Given the description of an element on the screen output the (x, y) to click on. 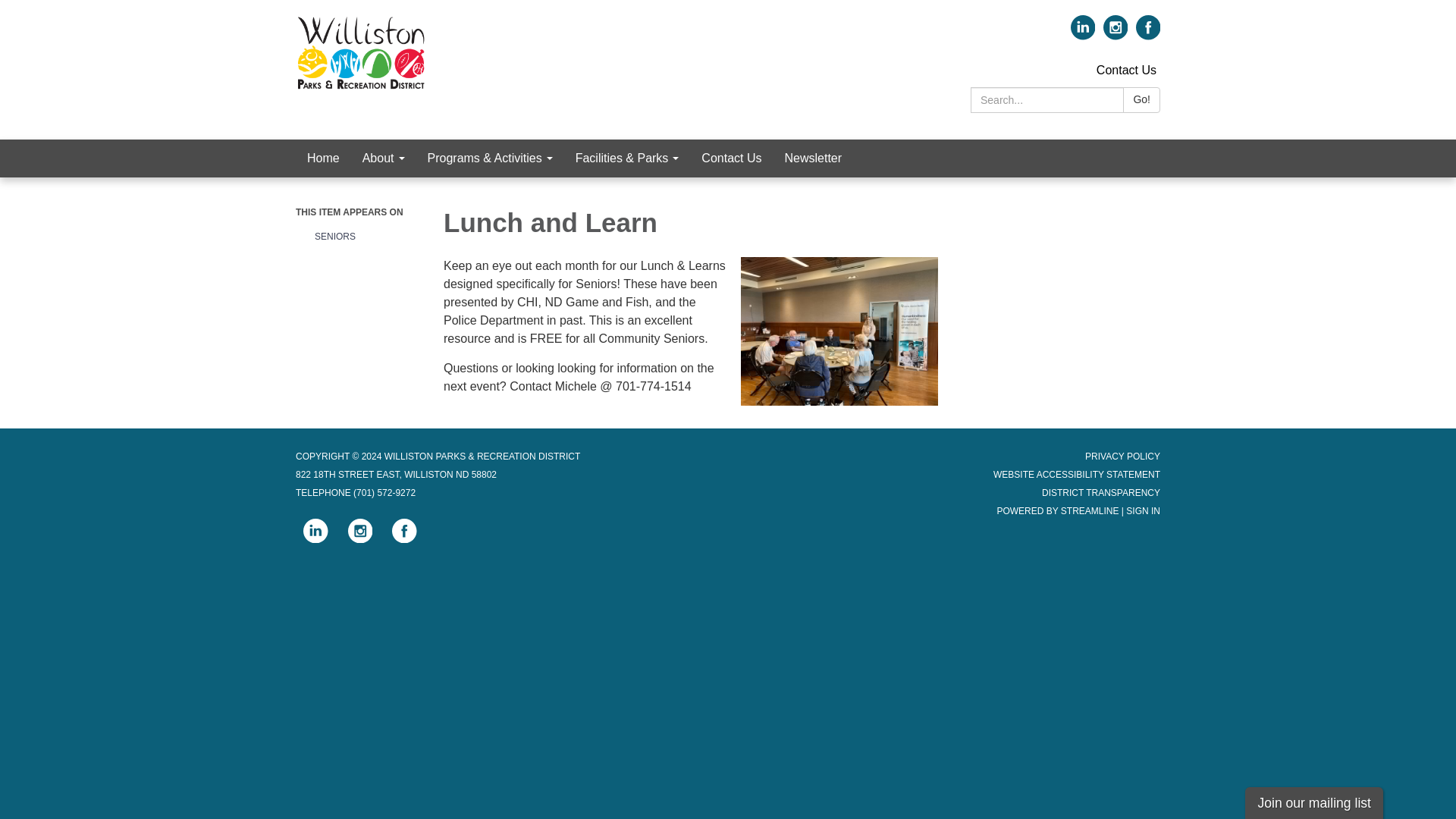
Contact Us (1125, 69)
Streamline: Technology for Special Districts (1090, 511)
Special District Transparency Report (1101, 492)
About (383, 158)
Go! (1141, 99)
Home (322, 158)
